Given the description of an element on the screen output the (x, y) to click on. 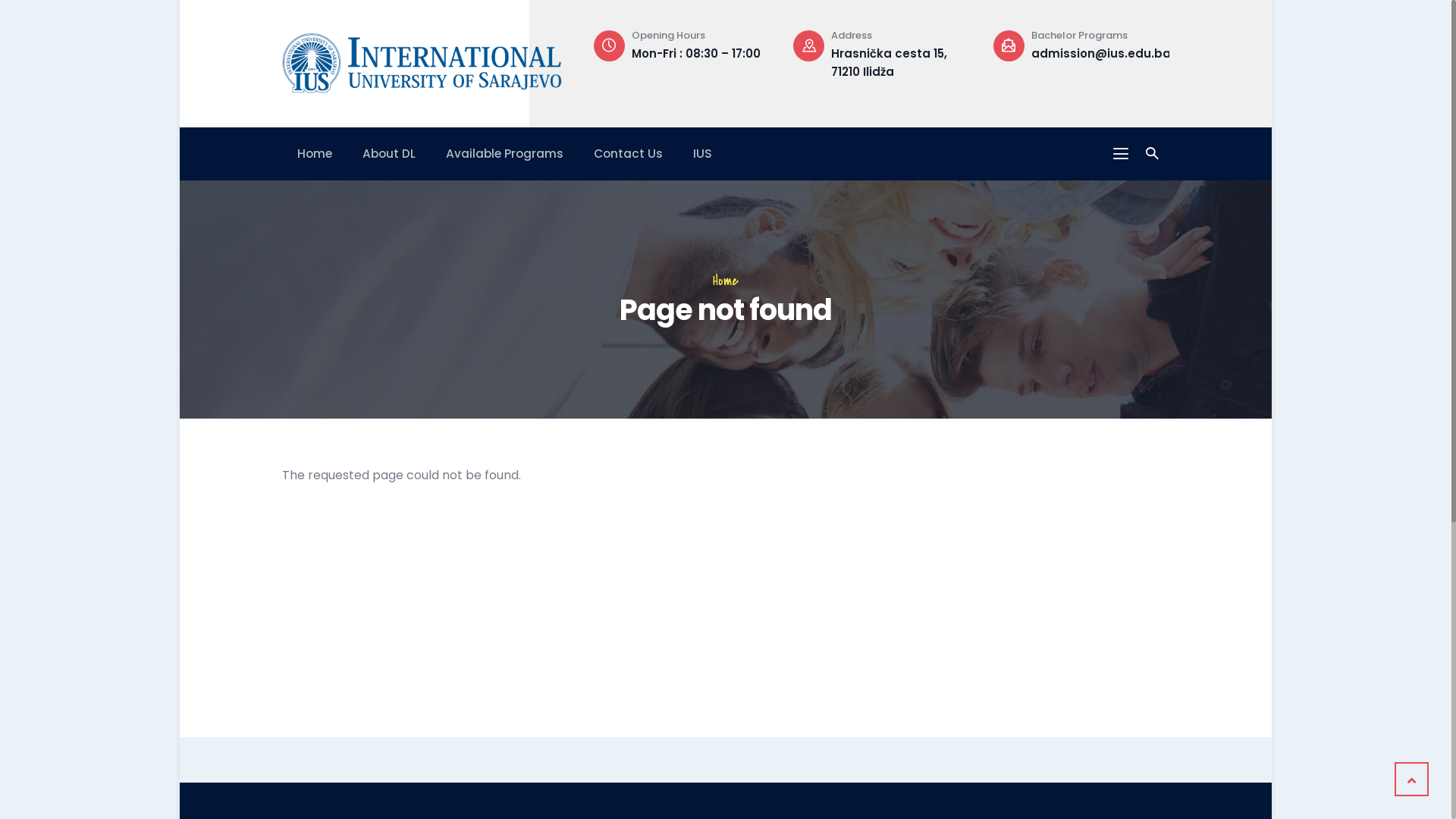
Contact Us Element type: text (627, 153)
Available Programs Element type: text (504, 153)
Skip to main content Element type: text (179, 0)
admission@ius.edu.ba Element type: text (1100, 53)
Home Element type: hover (421, 59)
Home Element type: text (725, 280)
Home Element type: text (314, 153)
About DL Element type: text (388, 153)
IUS Element type: text (702, 153)
